Given the description of an element on the screen output the (x, y) to click on. 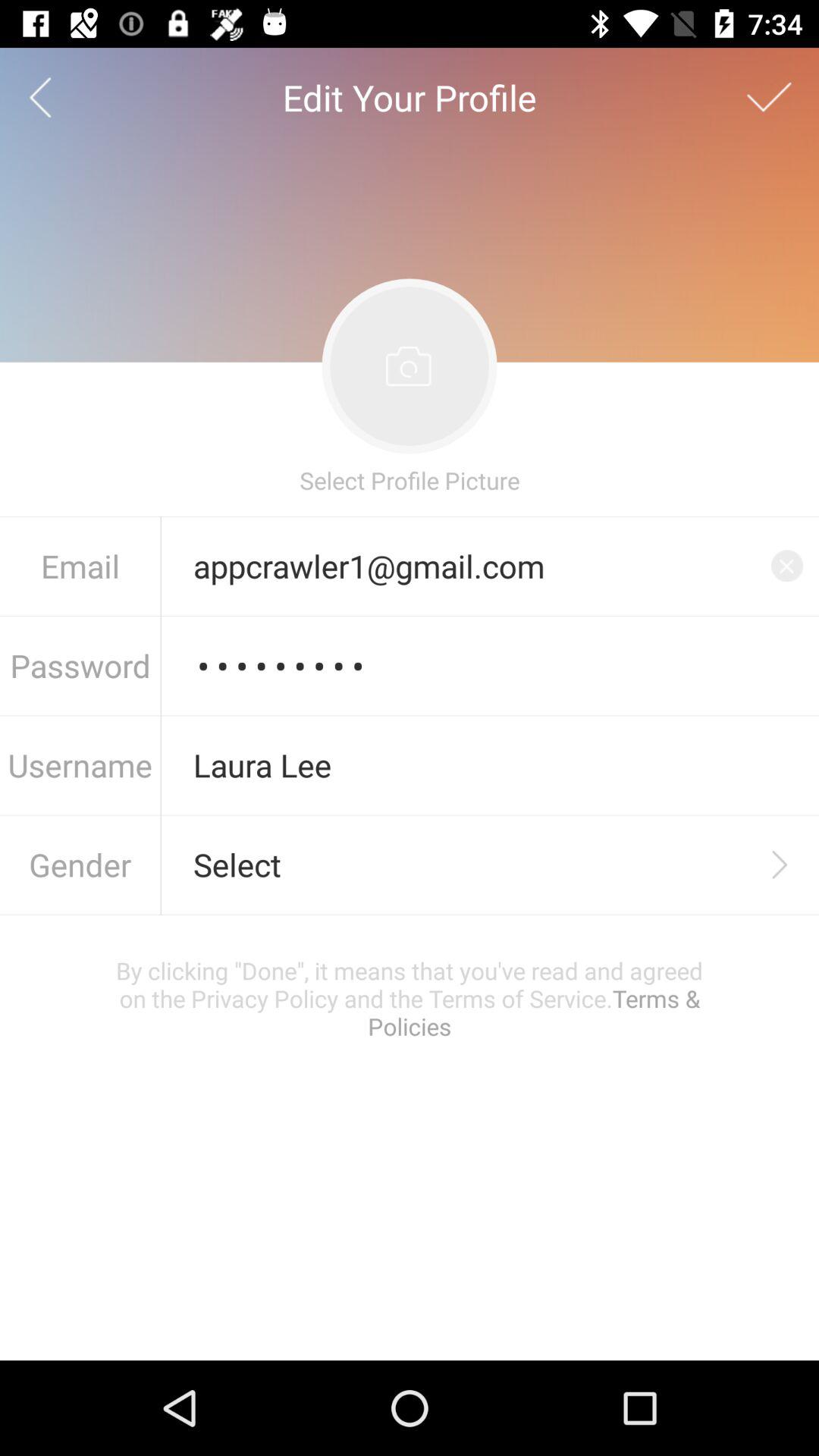
click on the image above  select profile picture (409, 366)
click on the x mark present next to appcrawler1gmailcom (787, 565)
click the last box at last  which is mentioned as terms and policies (409, 998)
click on password (490, 665)
